Given the description of an element on the screen output the (x, y) to click on. 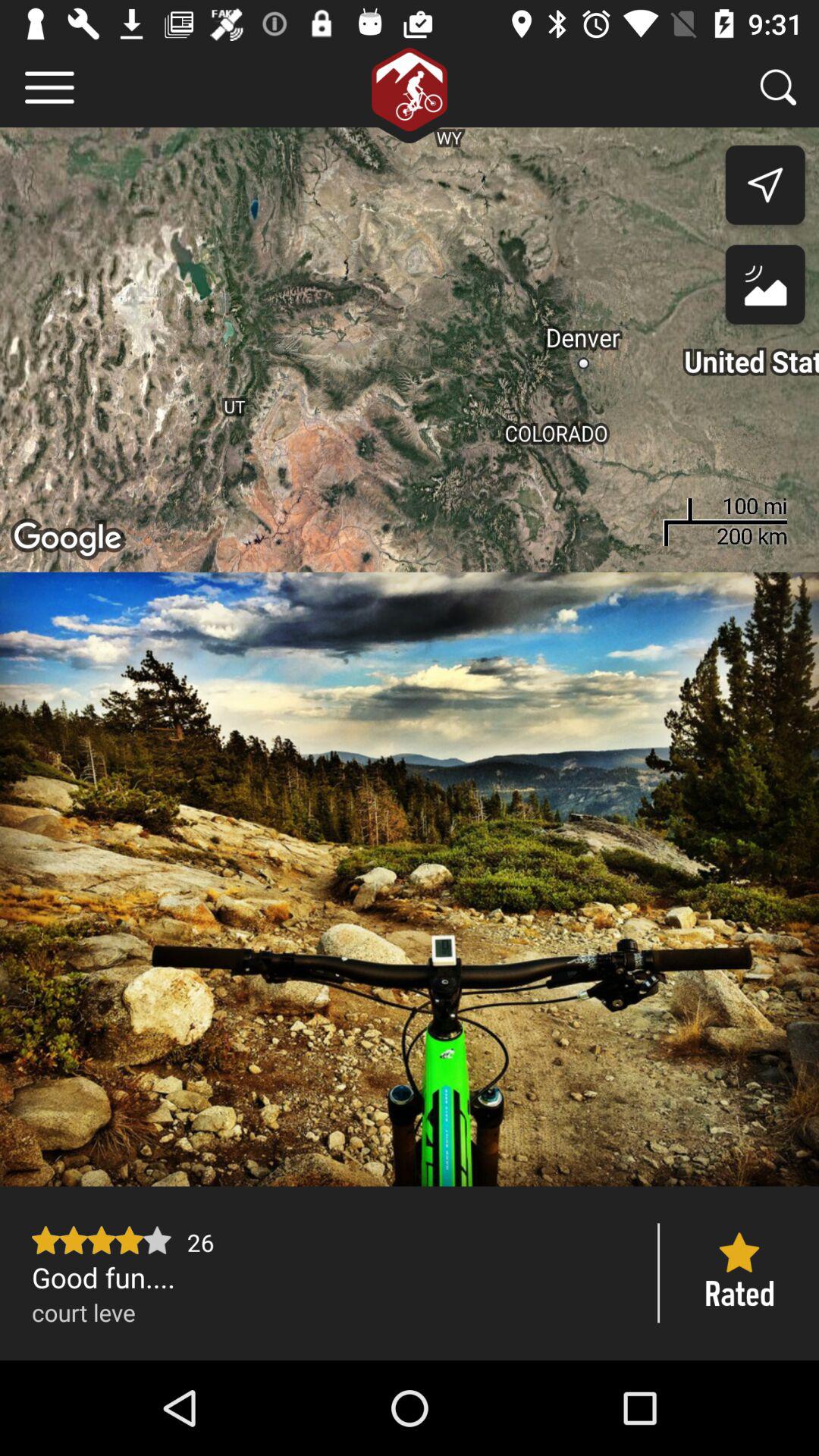
open trail view (409, 879)
